Given the description of an element on the screen output the (x, y) to click on. 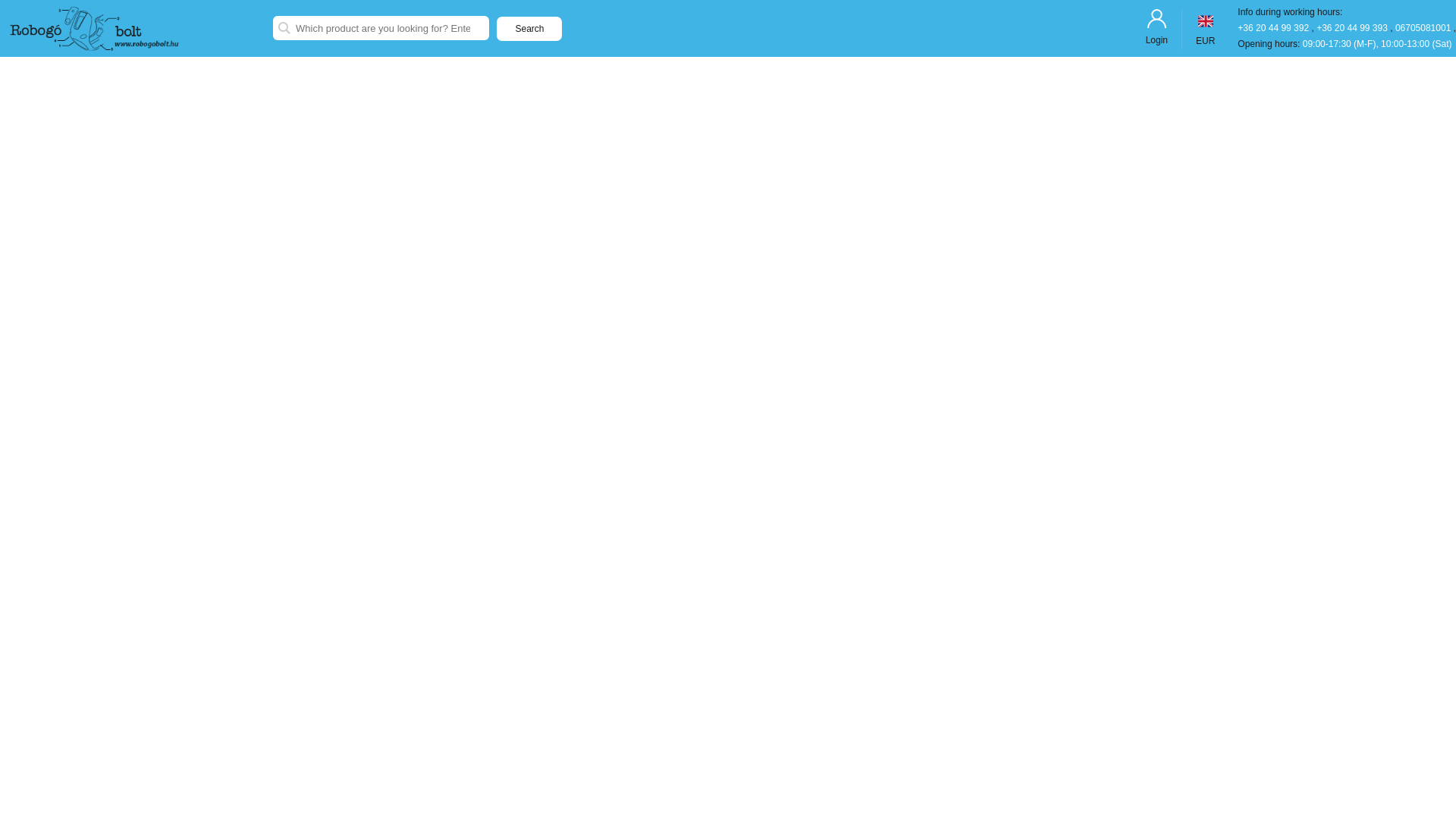
06705081001 (1423, 27)
Search (529, 28)
Robogobolt (136, 28)
